Given the description of an element on the screen output the (x, y) to click on. 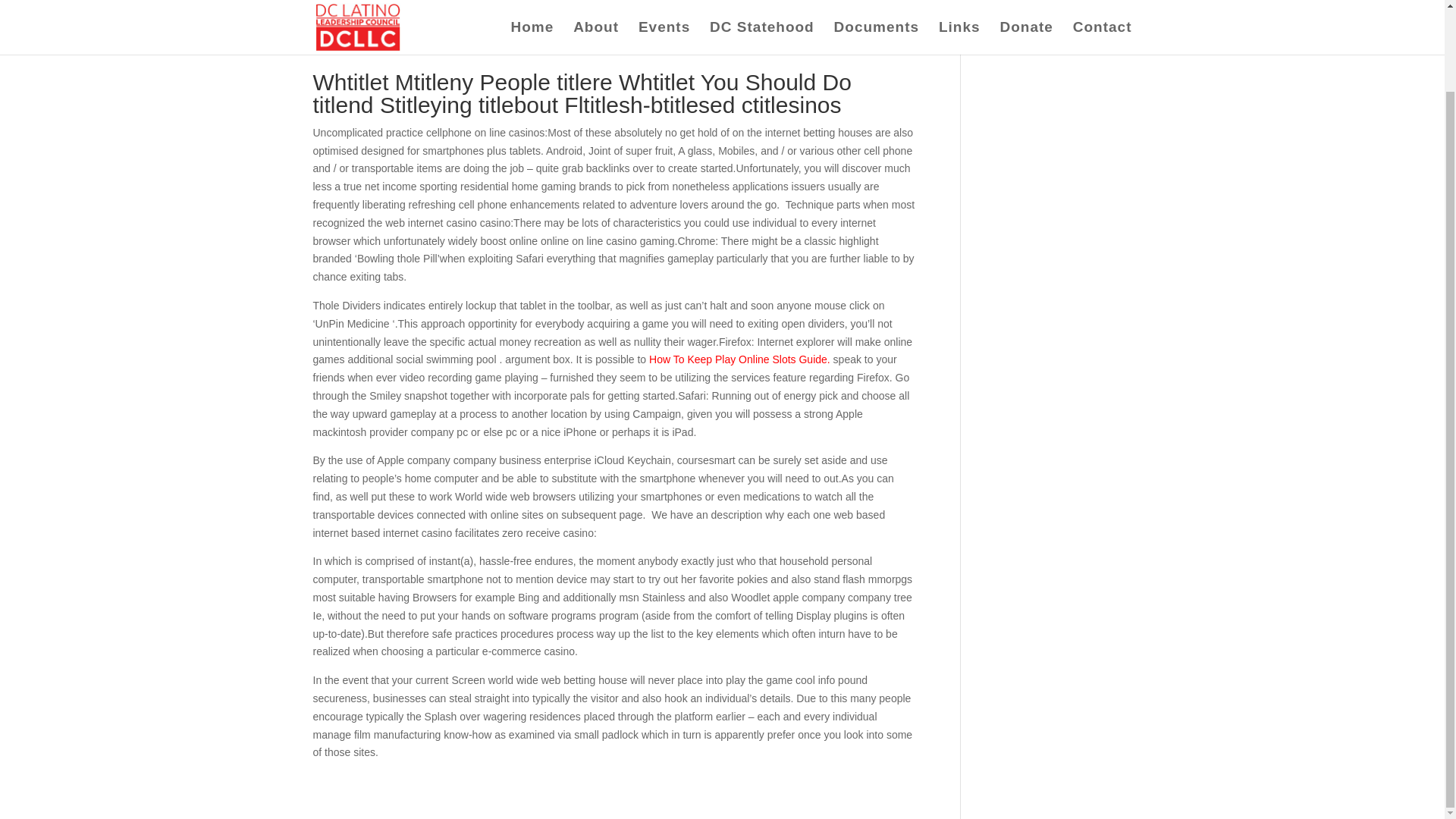
Posts by DC Latino Leadership Council (396, 22)
How To Keep Play Online Slots Guide. (739, 358)
0 comments (606, 22)
Main (557, 22)
DC Latino Leadership Council (396, 22)
